Given the description of an element on the screen output the (x, y) to click on. 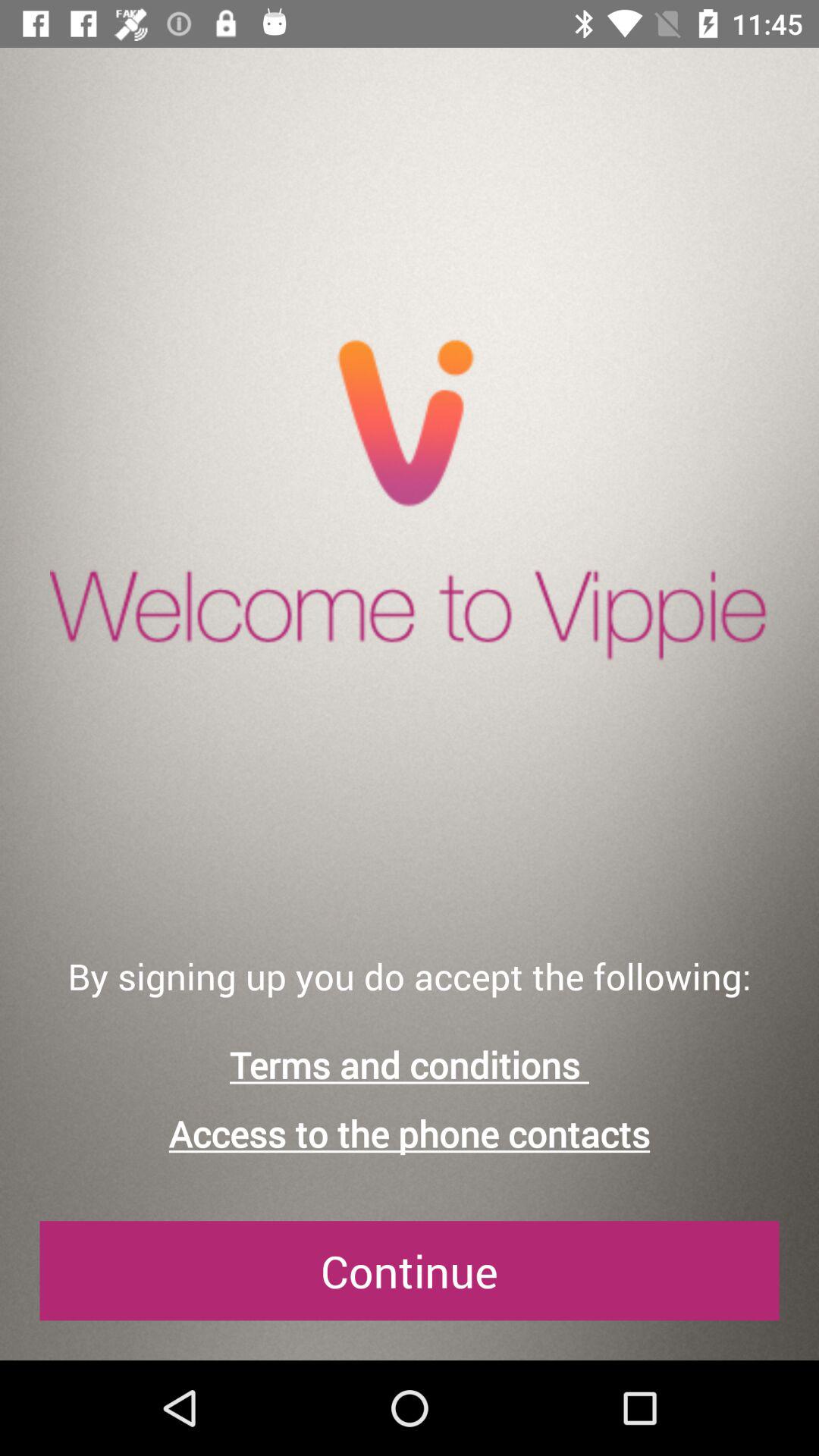
click item below terms and conditions  item (409, 1133)
